Given the description of an element on the screen output the (x, y) to click on. 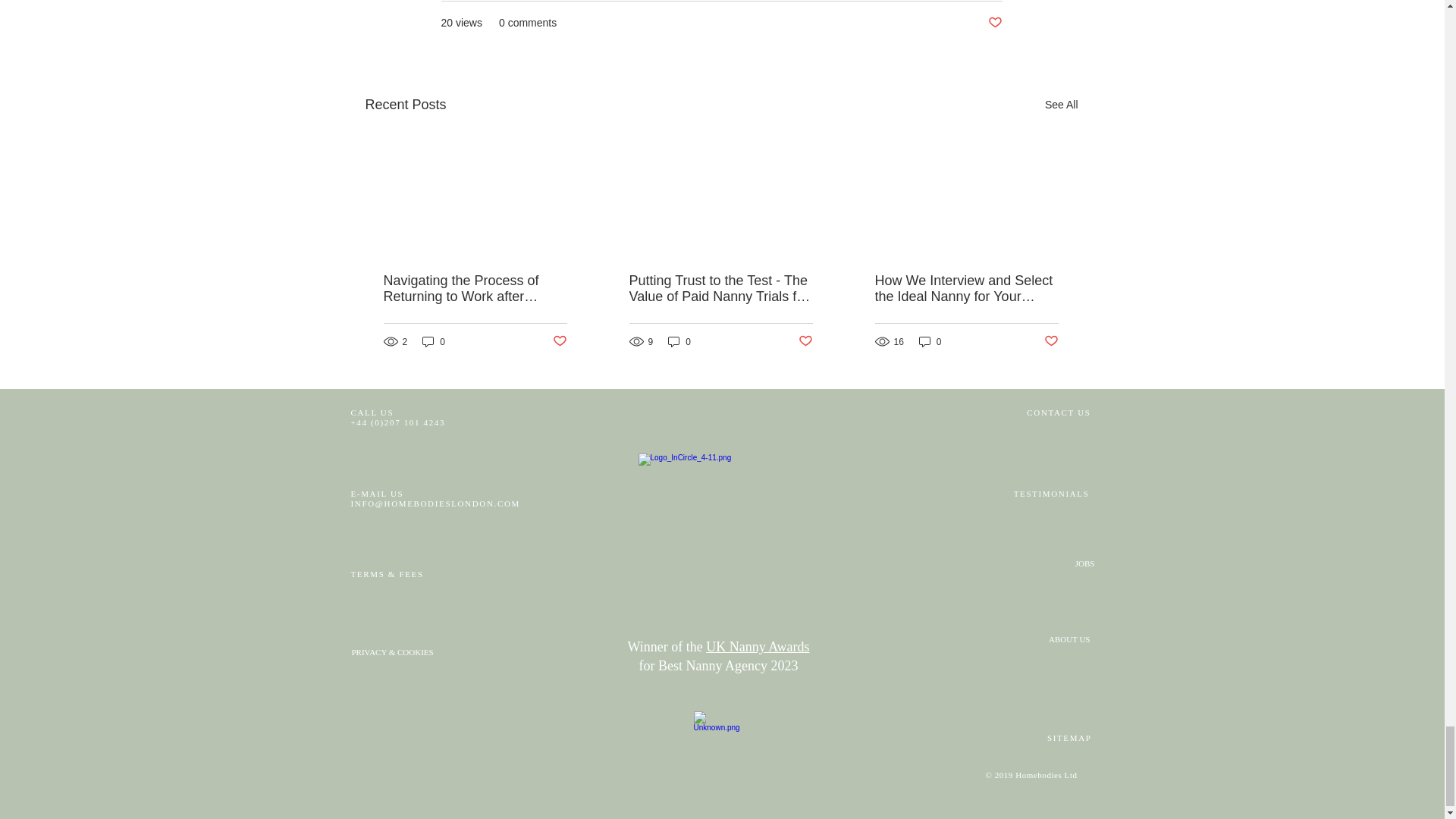
Post not marked as liked (994, 23)
Post not marked as liked (558, 341)
0 (433, 341)
See All (1061, 105)
